Given the description of an element on the screen output the (x, y) to click on. 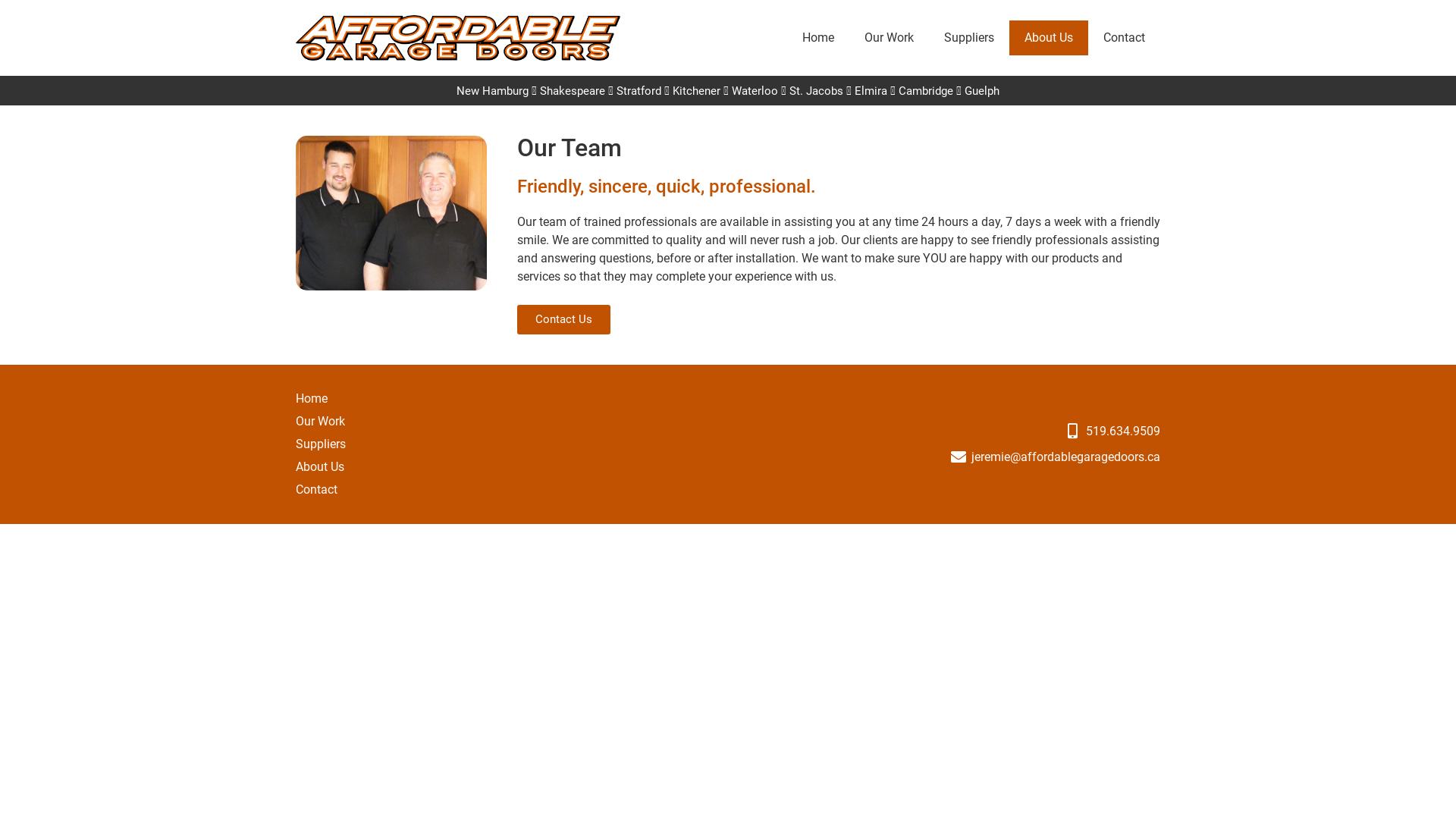
519.634.9509 Element type: text (947, 431)
jeremie@affordablegaragedoors.ca Element type: text (947, 457)
Home Element type: text (320, 398)
Contact Us Element type: text (563, 319)
Suppliers Element type: text (320, 444)
About Us Element type: text (320, 466)
Our Work Element type: text (888, 37)
Suppliers Element type: text (968, 37)
About Us Element type: text (1048, 37)
Contact Element type: text (1124, 37)
Contact Element type: text (320, 489)
Home Element type: text (818, 37)
Our Work Element type: text (320, 421)
